Given the description of an element on the screen output the (x, y) to click on. 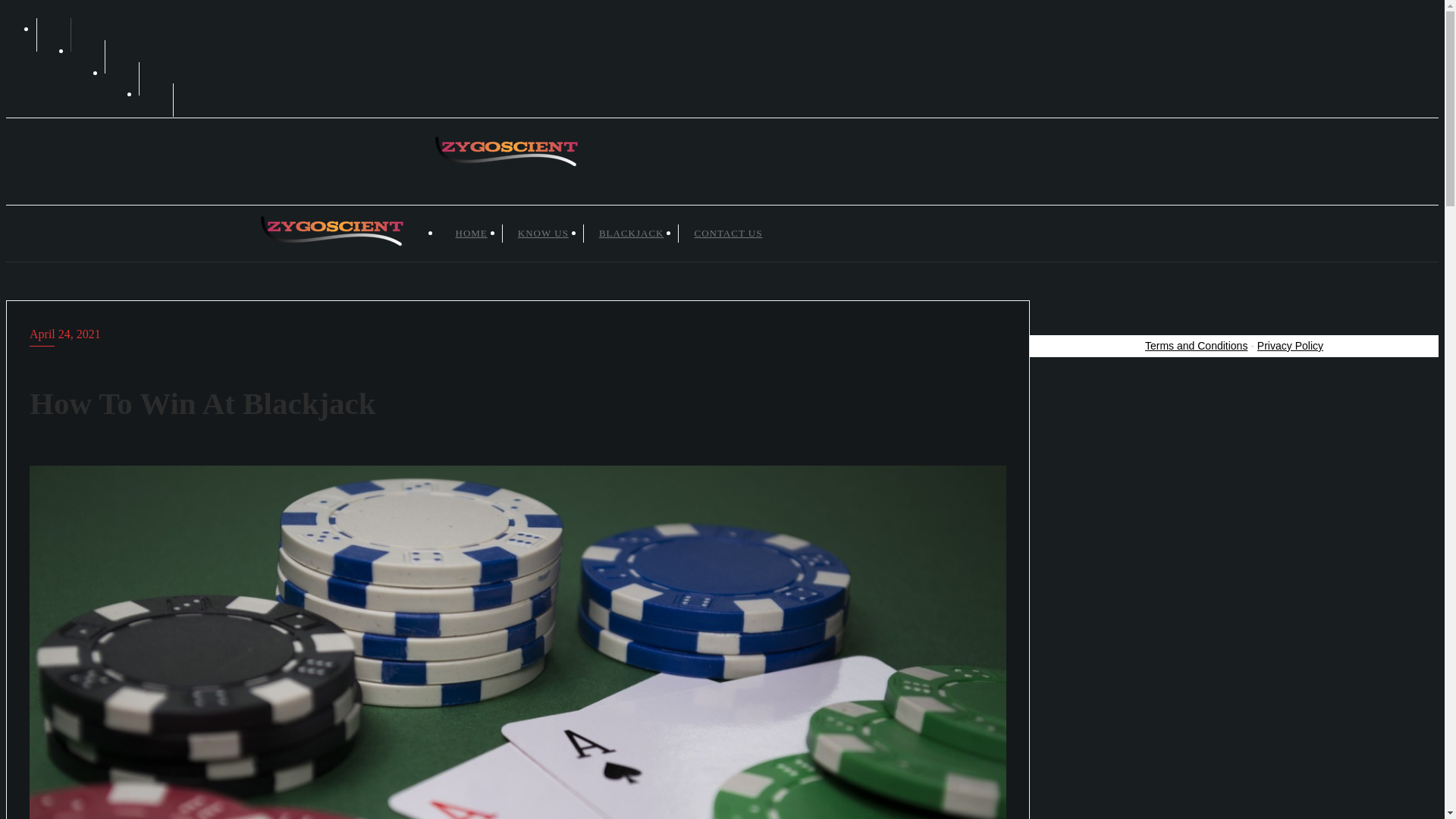
CONTACT US (727, 231)
Terms and Conditions (1195, 345)
April 24, 2021 (517, 334)
KNOW US (542, 231)
Privacy Policy (1290, 345)
BLACKJACK (631, 231)
HOME (471, 231)
